Given the description of an element on the screen output the (x, y) to click on. 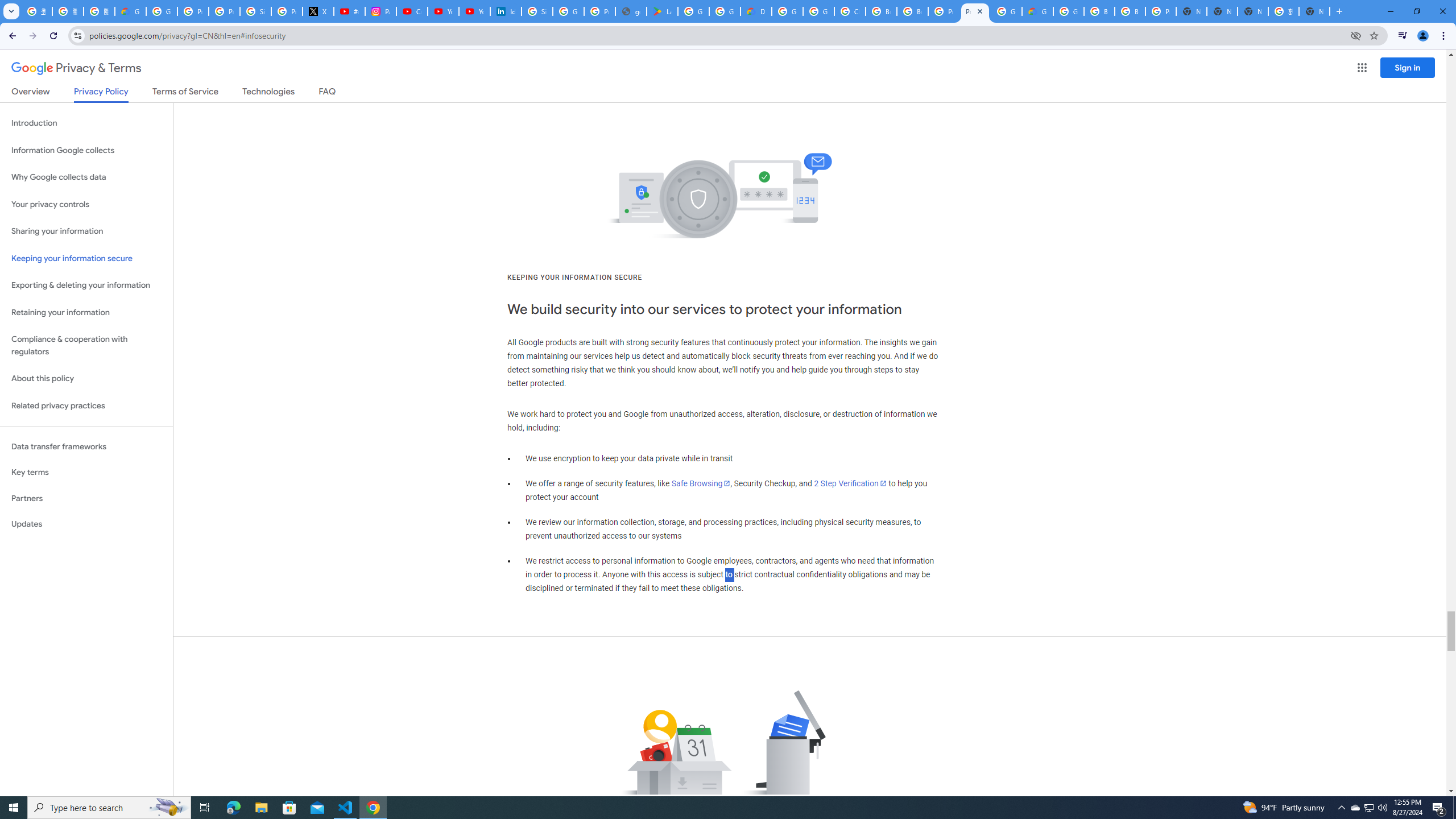
google_privacy_policy_en.pdf (631, 11)
Privacy & Terms (76, 68)
Retaining your information (86, 312)
Privacy Help Center - Policies Help (223, 11)
Google Cloud Estimate Summary (1037, 11)
Data transfer frameworks (86, 446)
Browse Chrome as a guest - Computer - Google Chrome Help (1129, 11)
Browse Chrome as a guest - Computer - Google Chrome Help (881, 11)
FAQ (327, 93)
Exporting & deleting your information (86, 284)
New Tab (1314, 11)
